Given the description of an element on the screen output the (x, y) to click on. 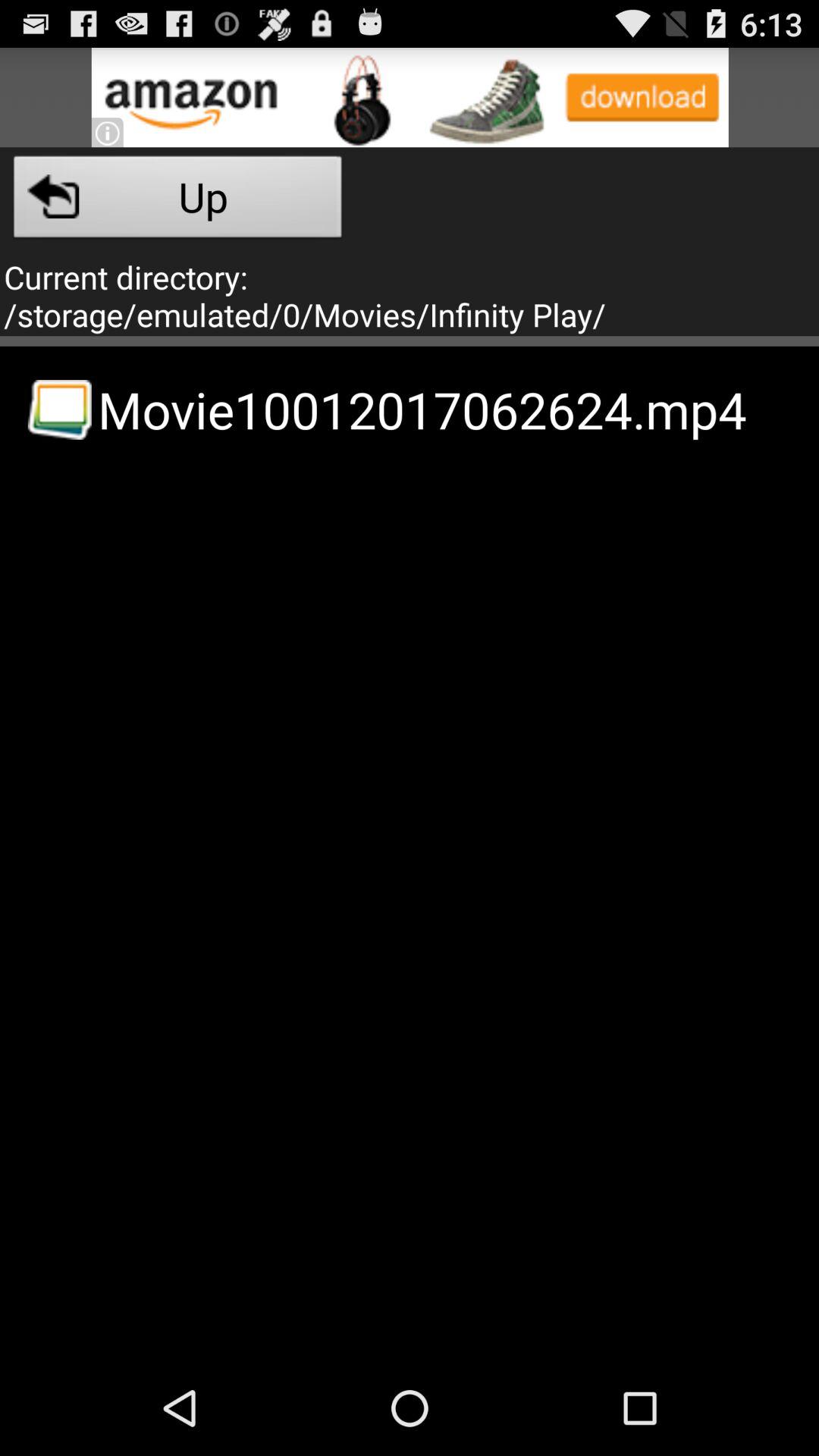
add banner (409, 97)
